Given the description of an element on the screen output the (x, y) to click on. 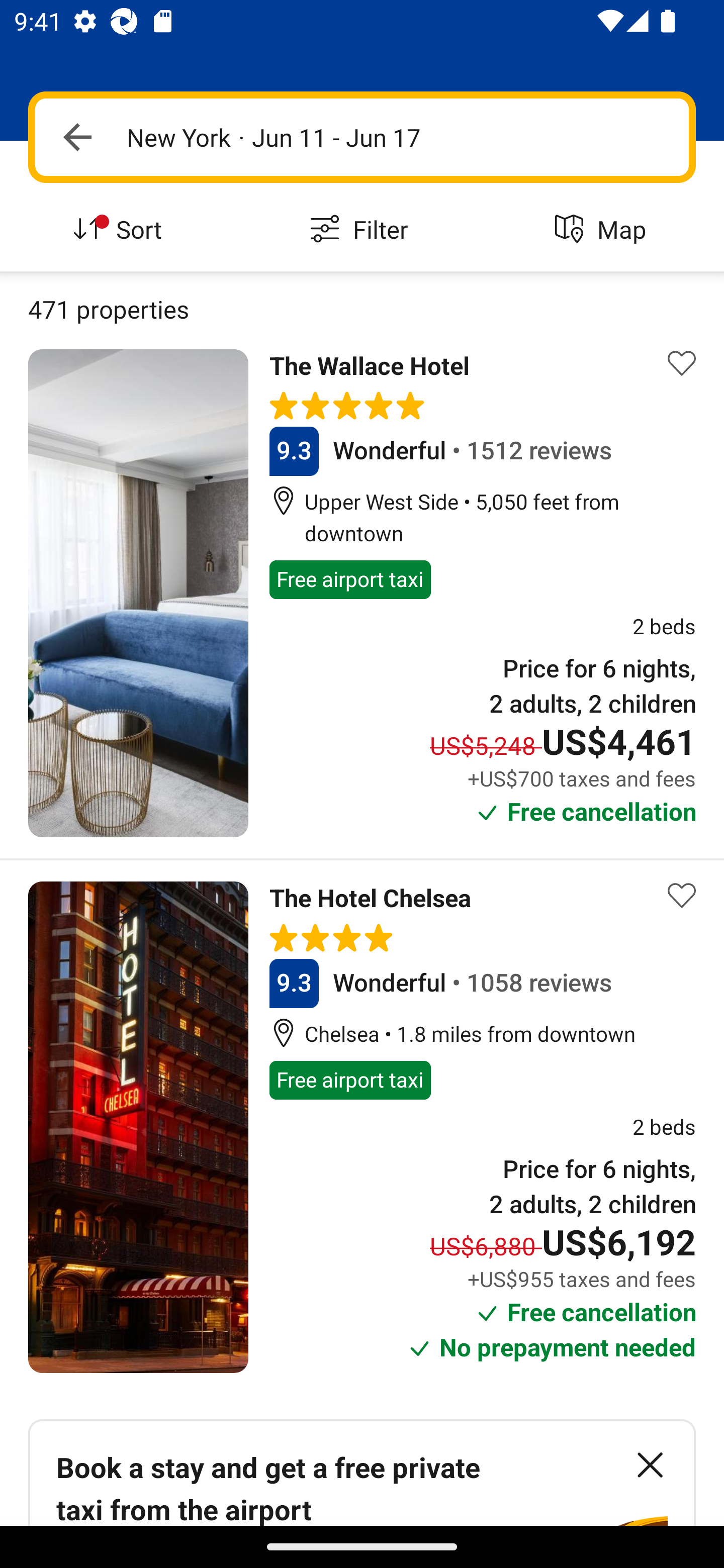
Navigate up New York · Jun 11 - Jun 17 (362, 136)
Navigate up (77, 136)
Sort (120, 230)
Filter (361, 230)
Map (603, 230)
Save property to list (681, 363)
Save property to list (681, 894)
Dismiss banner button (650, 1464)
